Given the description of an element on the screen output the (x, y) to click on. 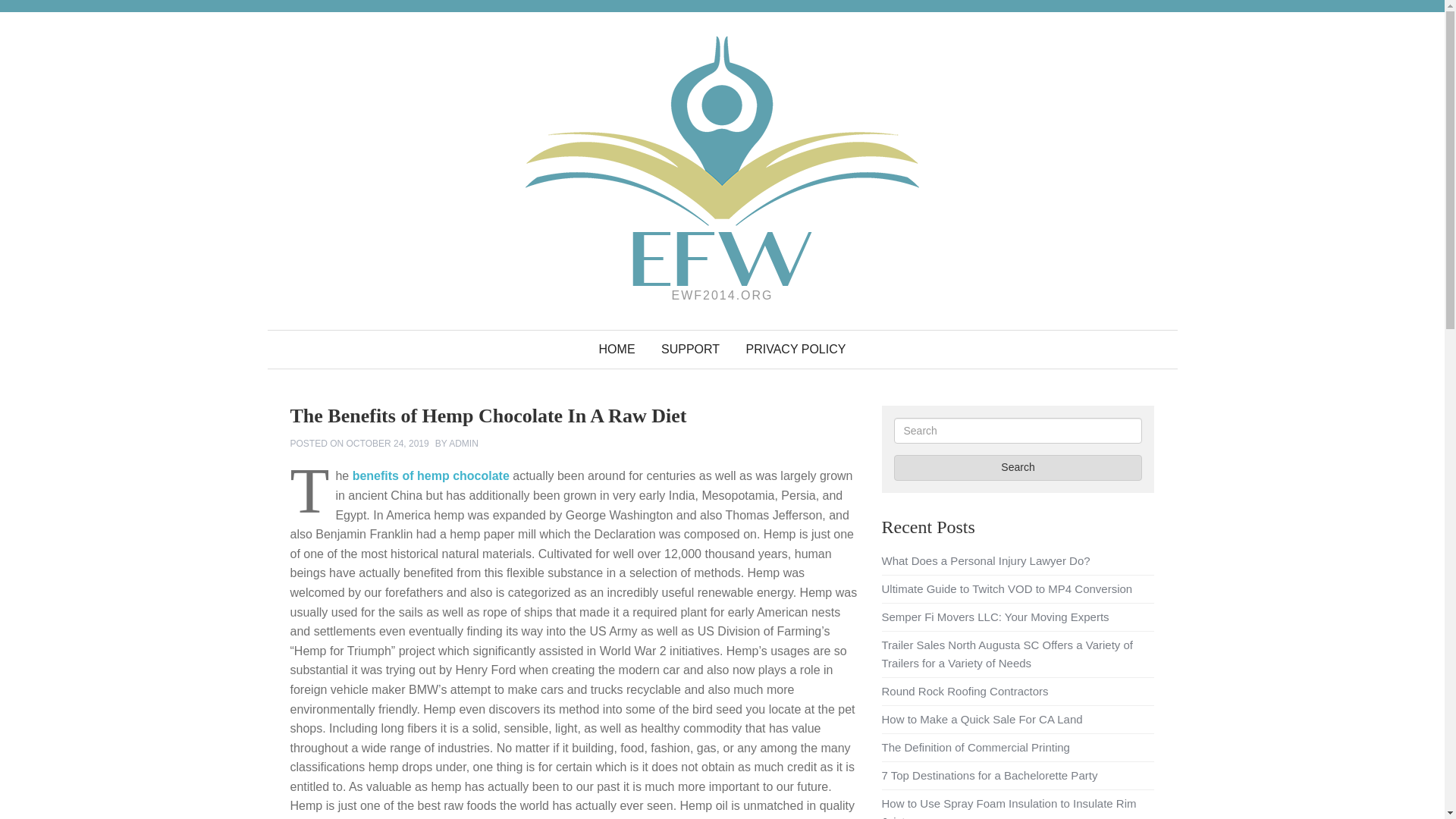
HOME (617, 349)
Semper Fi Movers LLC: Your Moving Experts (994, 616)
The Definition of Commercial Printing (974, 747)
How to Use Spray Foam Insulation to Insulate Rim Joists (1007, 807)
7 Top Destinations for a Bachelorette Party (988, 775)
Search (1017, 467)
Round Rock Roofing Contractors (964, 690)
What Does a Personal Injury Lawyer Do? (984, 560)
ADMIN (463, 443)
PRIVACY POLICY (796, 349)
benefits of hemp chocolate (430, 475)
SUPPORT (689, 349)
Ultimate Guide to Twitch VOD to MP4 Conversion (1006, 588)
How to Make a Quick Sale For CA Land (980, 718)
